Given the description of an element on the screen output the (x, y) to click on. 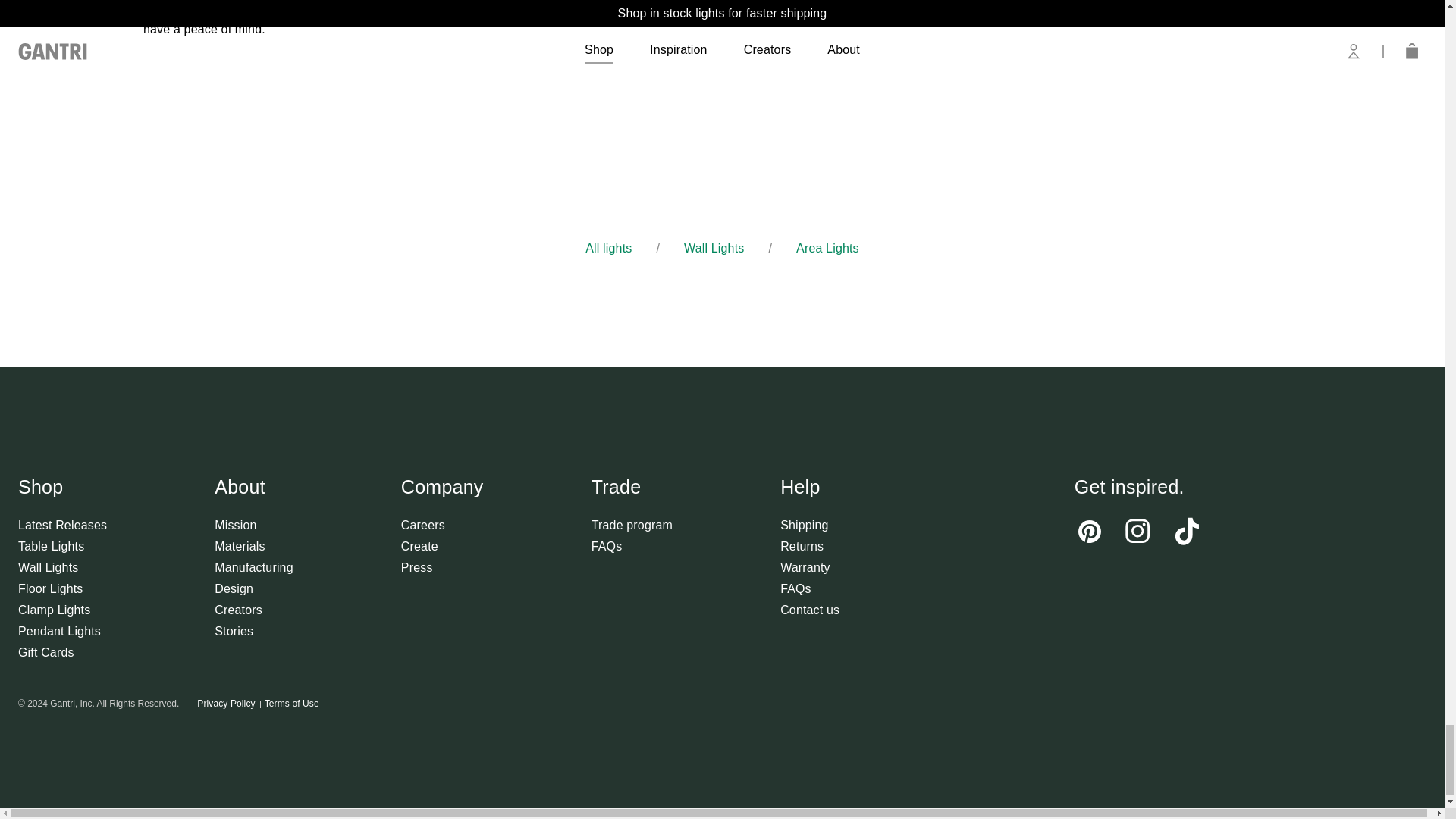
Area Lights (827, 248)
Clamp Lights (61, 609)
Design (253, 588)
FAQs (810, 588)
FAQs (631, 546)
Warranty (810, 566)
Pendant Lights (61, 630)
Creators (253, 609)
Wall Lights (61, 566)
All lights (608, 248)
Gift Cards (61, 651)
Manufacturing (253, 566)
Latest Releases (61, 524)
Table Lights (61, 546)
Contact us (810, 609)
